Given the description of an element on the screen output the (x, y) to click on. 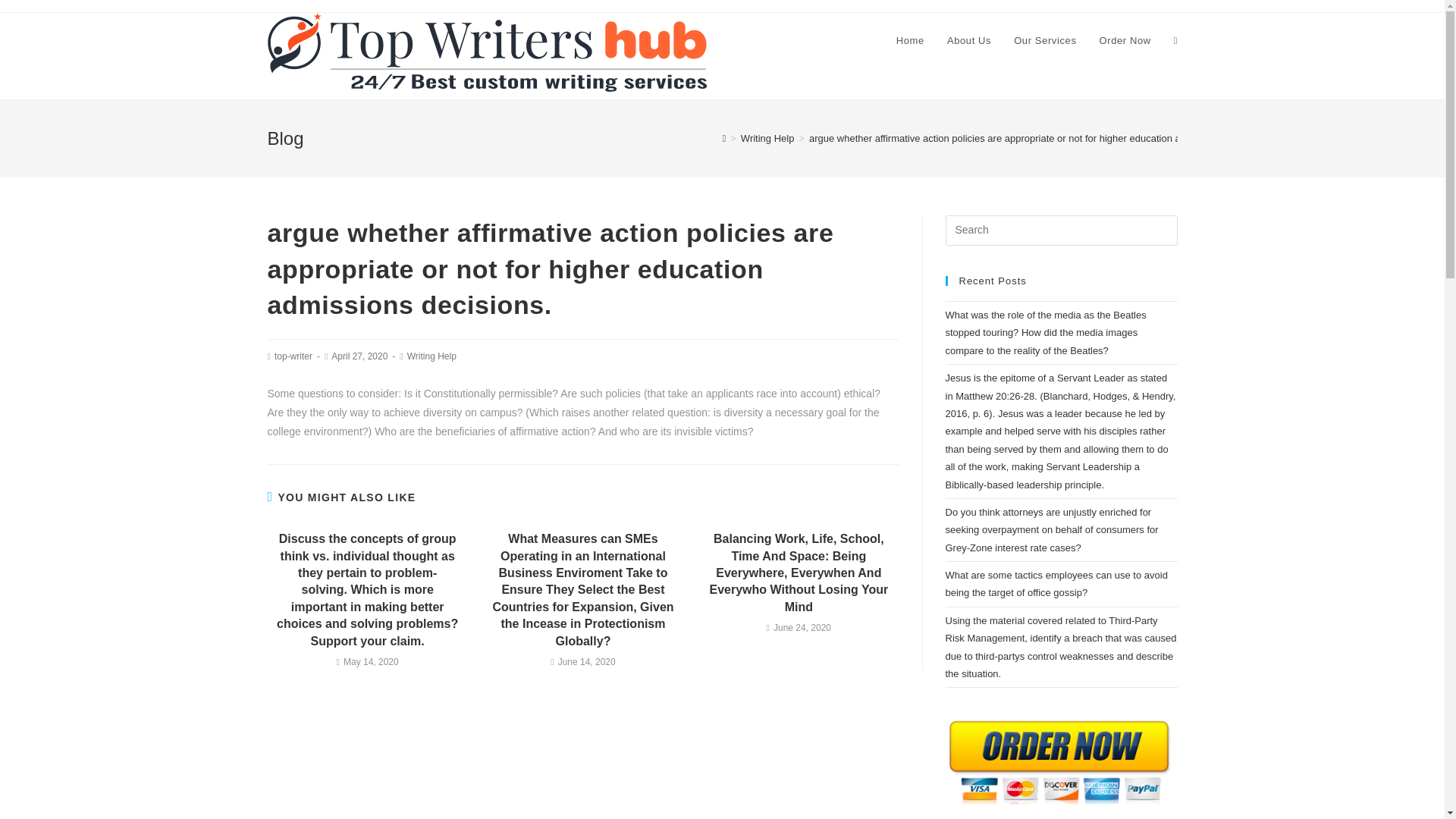
Writing Help (432, 356)
Our Services (1045, 40)
Writing Help (767, 138)
top-writer (294, 356)
